Given the description of an element on the screen output the (x, y) to click on. 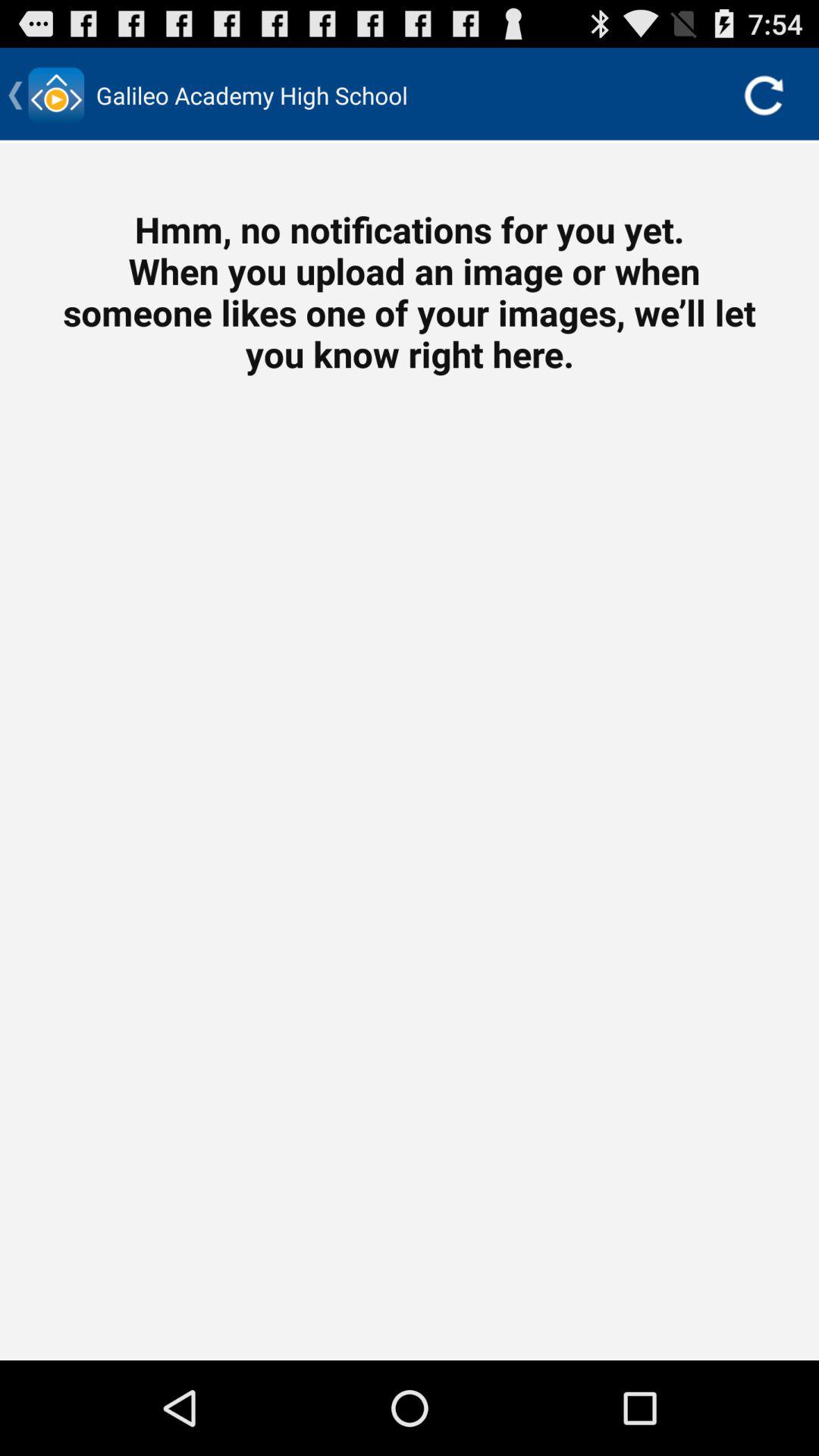
open the icon to the right of galileo academy high (763, 95)
